Given the description of an element on the screen output the (x, y) to click on. 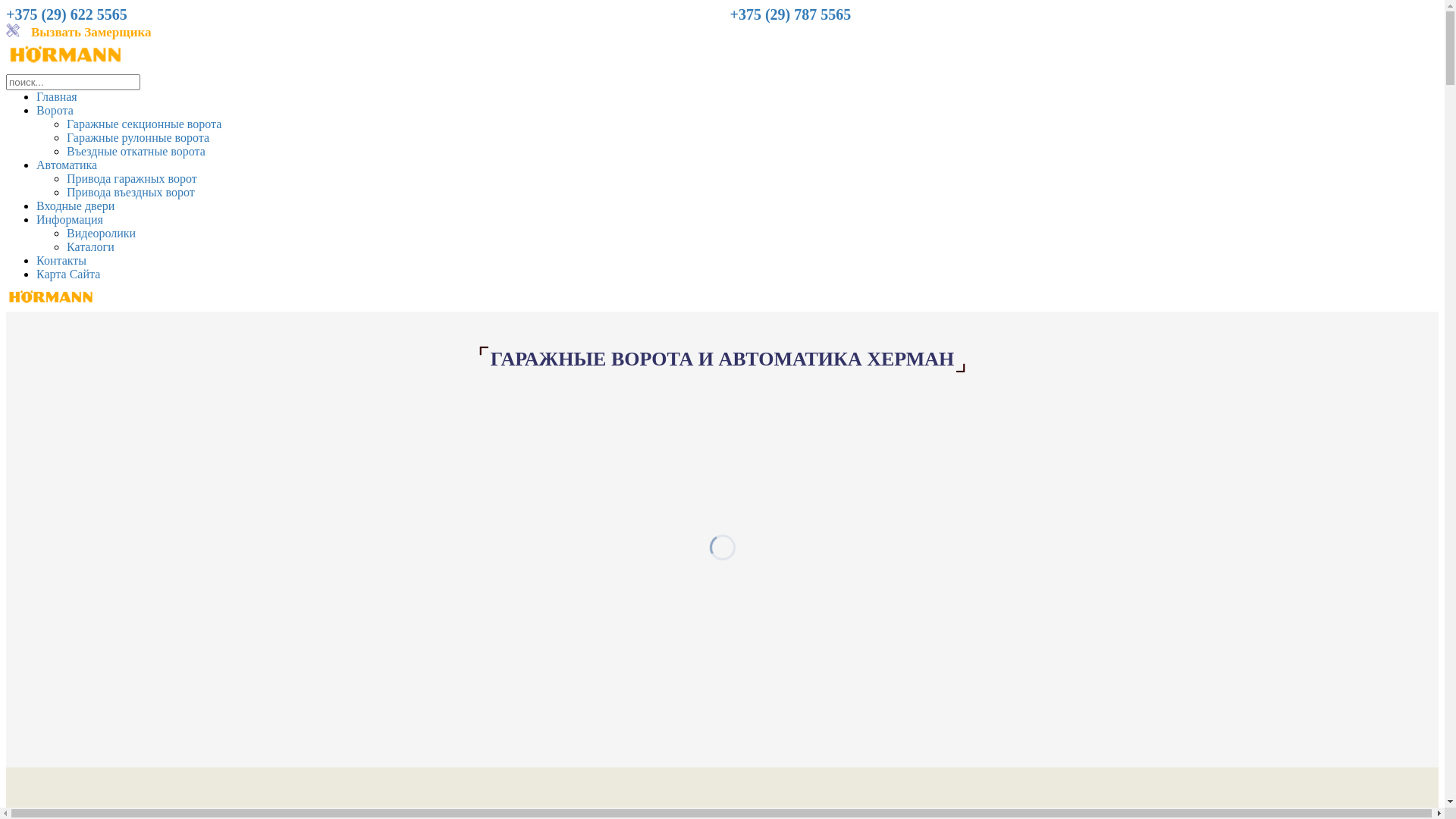
+375 (29) 622 5565 Element type: text (66, 15)
English Element type: hover (12, 30)
+375 (29) 787 5565 Element type: text (789, 15)
